Given the description of an element on the screen output the (x, y) to click on. 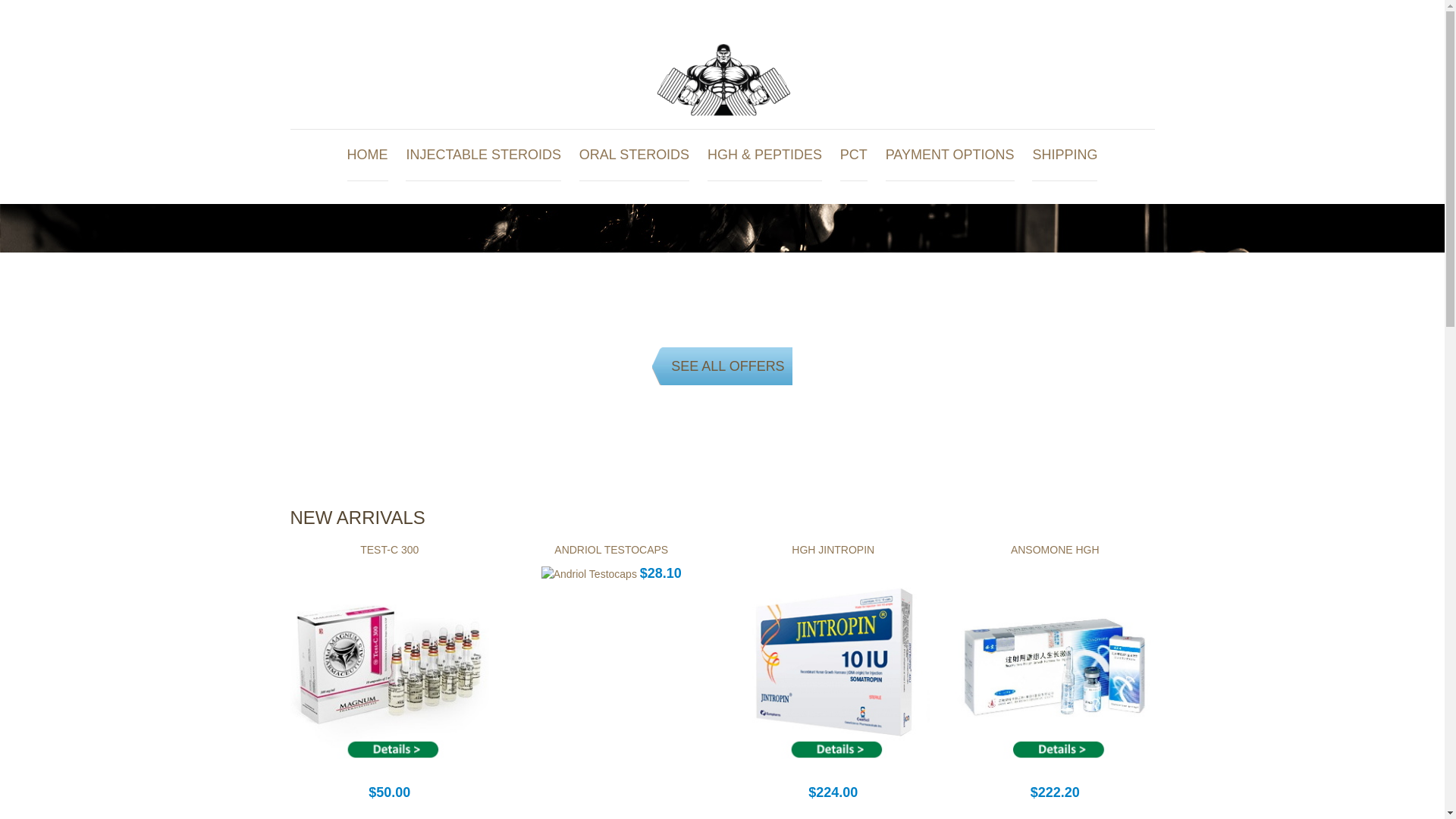
INJECTABLE STEROIDS (483, 154)
HGH JINTROPIN (833, 549)
SEE ALL OFFERS (722, 365)
ANDRIOL TESTOCAPS (611, 549)
PAYMENT OPTIONS (949, 154)
PCT (853, 154)
ORAL STEROIDS (633, 154)
TEST-C 300 (389, 549)
ANSOMONE HGH (1054, 549)
SHIPPING (1064, 154)
HOME (367, 154)
